Given the description of an element on the screen output the (x, y) to click on. 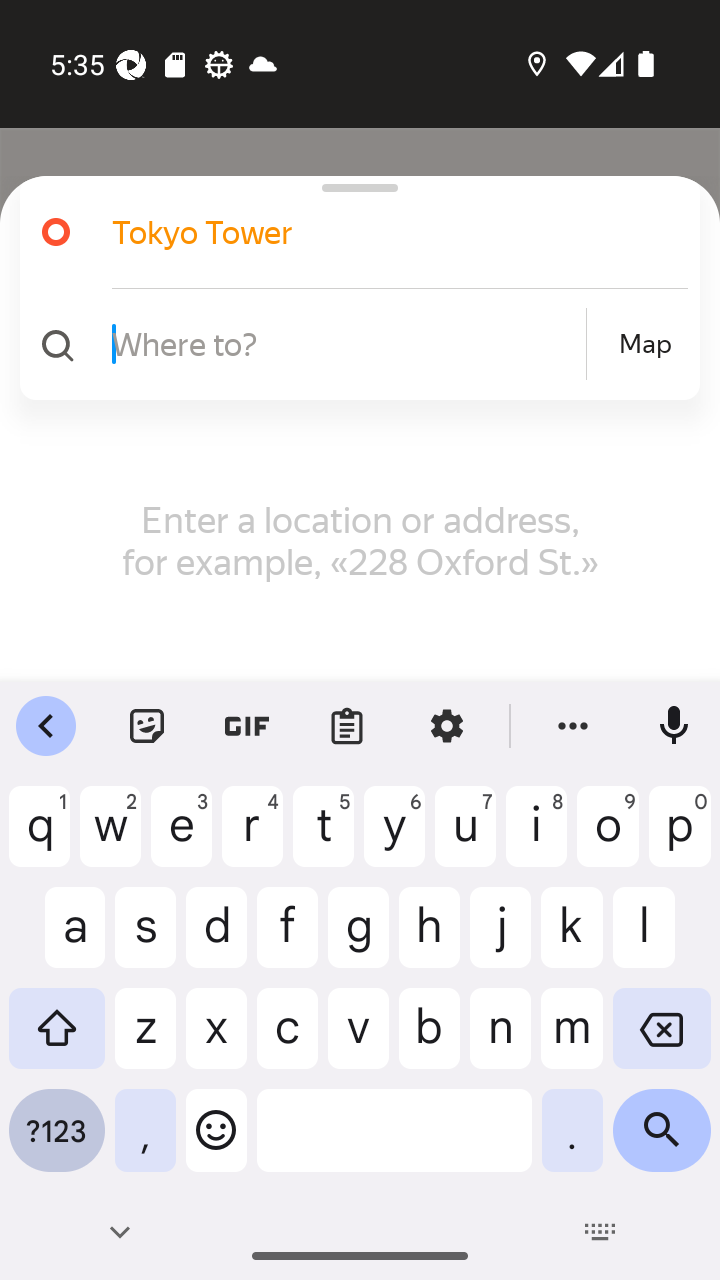
Tokyo Tower (352, 232)
Tokyo Tower (373, 232)
Where to? Map Map (352, 343)
Map (645, 343)
Where to? (346, 343)
